Given the description of an element on the screen output the (x, y) to click on. 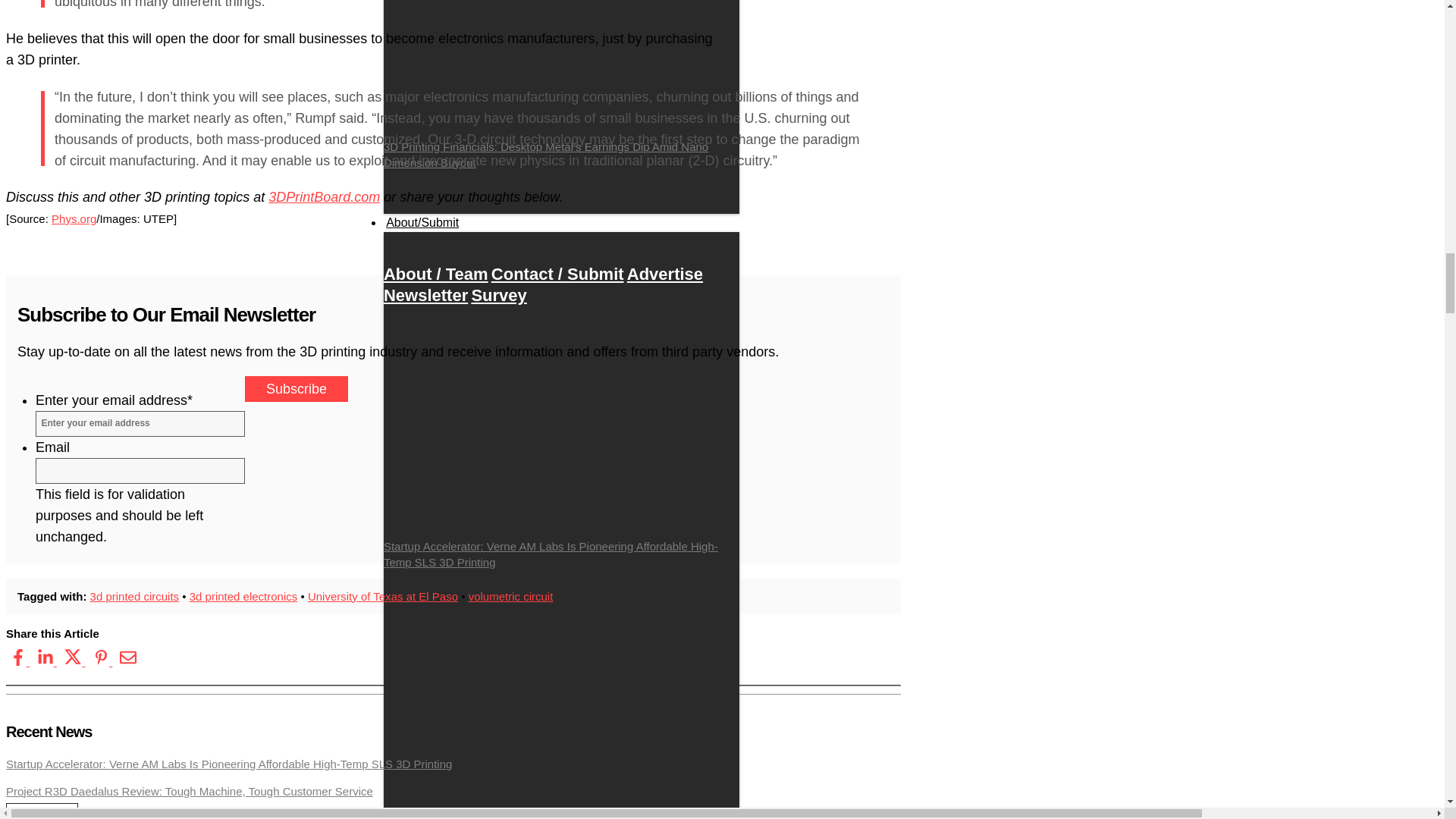
Subscribe (295, 388)
